Given the description of an element on the screen output the (x, y) to click on. 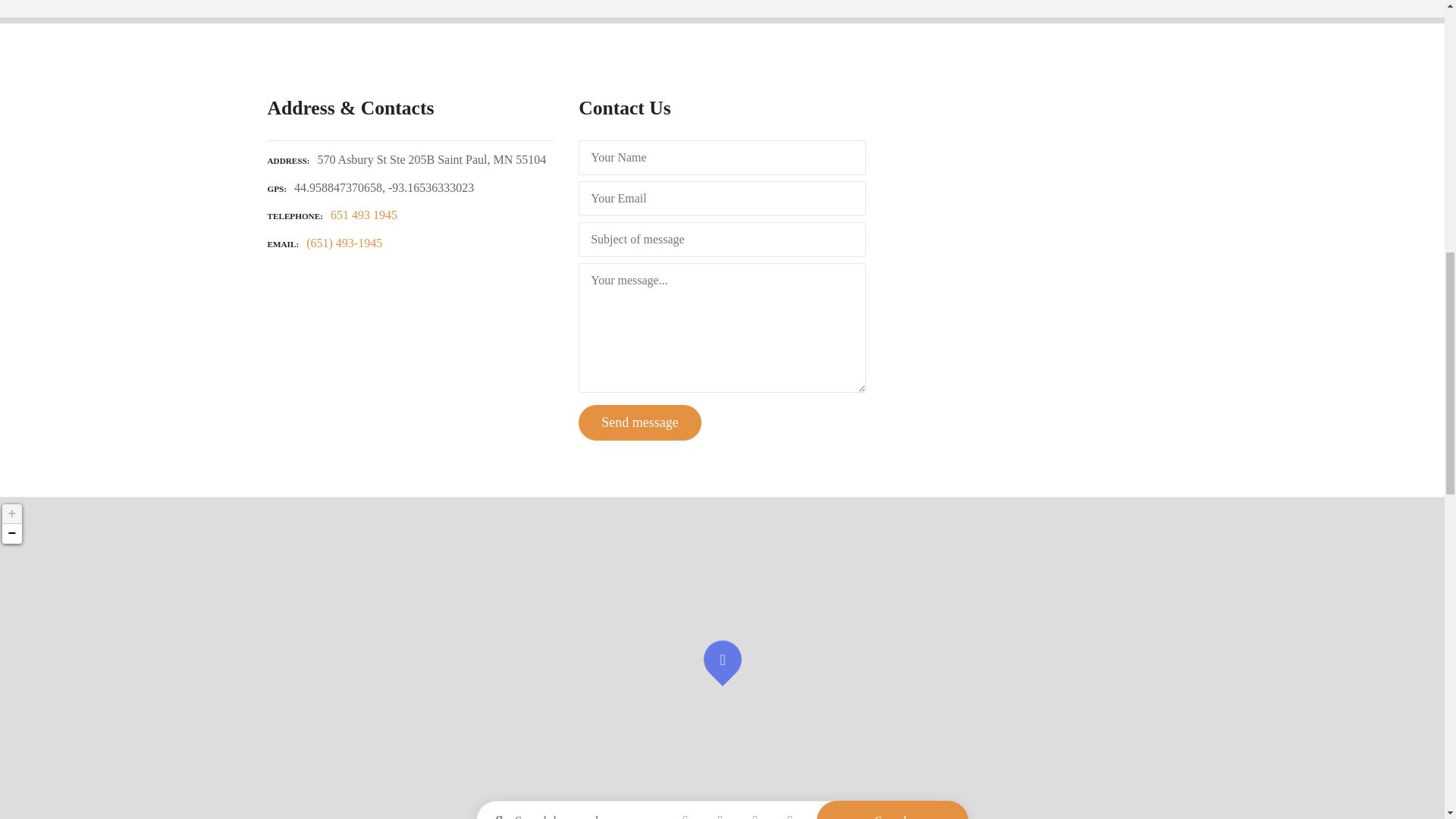
Search (892, 809)
Send message (639, 422)
651 493 1945 (363, 214)
Zoom out (11, 533)
Zoom in (11, 514)
